Given the description of an element on the screen output the (x, y) to click on. 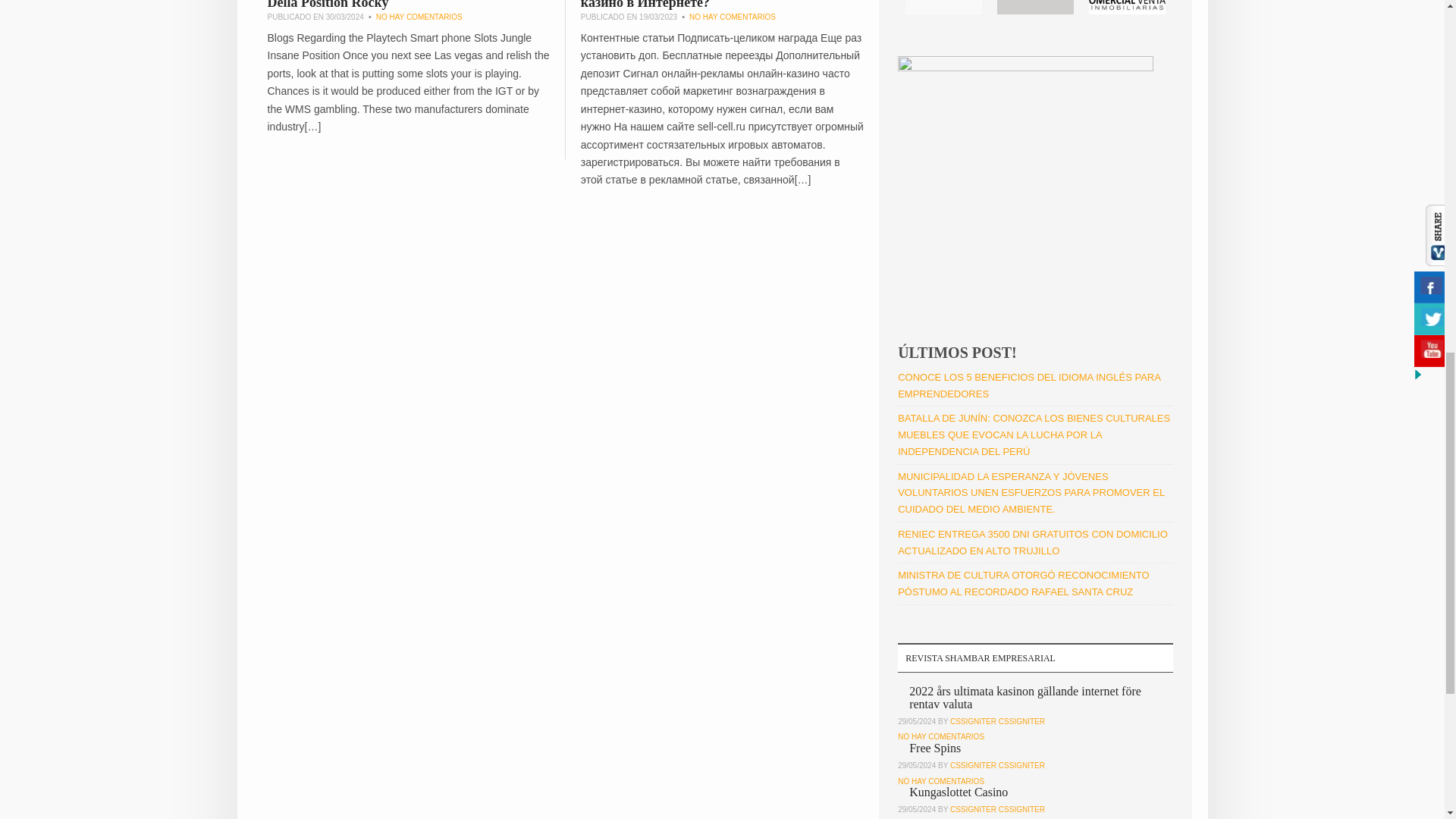
Entradas de cssigniter cssigniter (997, 721)
Entradas de cssigniter cssigniter (997, 809)
Entradas de cssigniter cssigniter (997, 765)
